Given the description of an element on the screen output the (x, y) to click on. 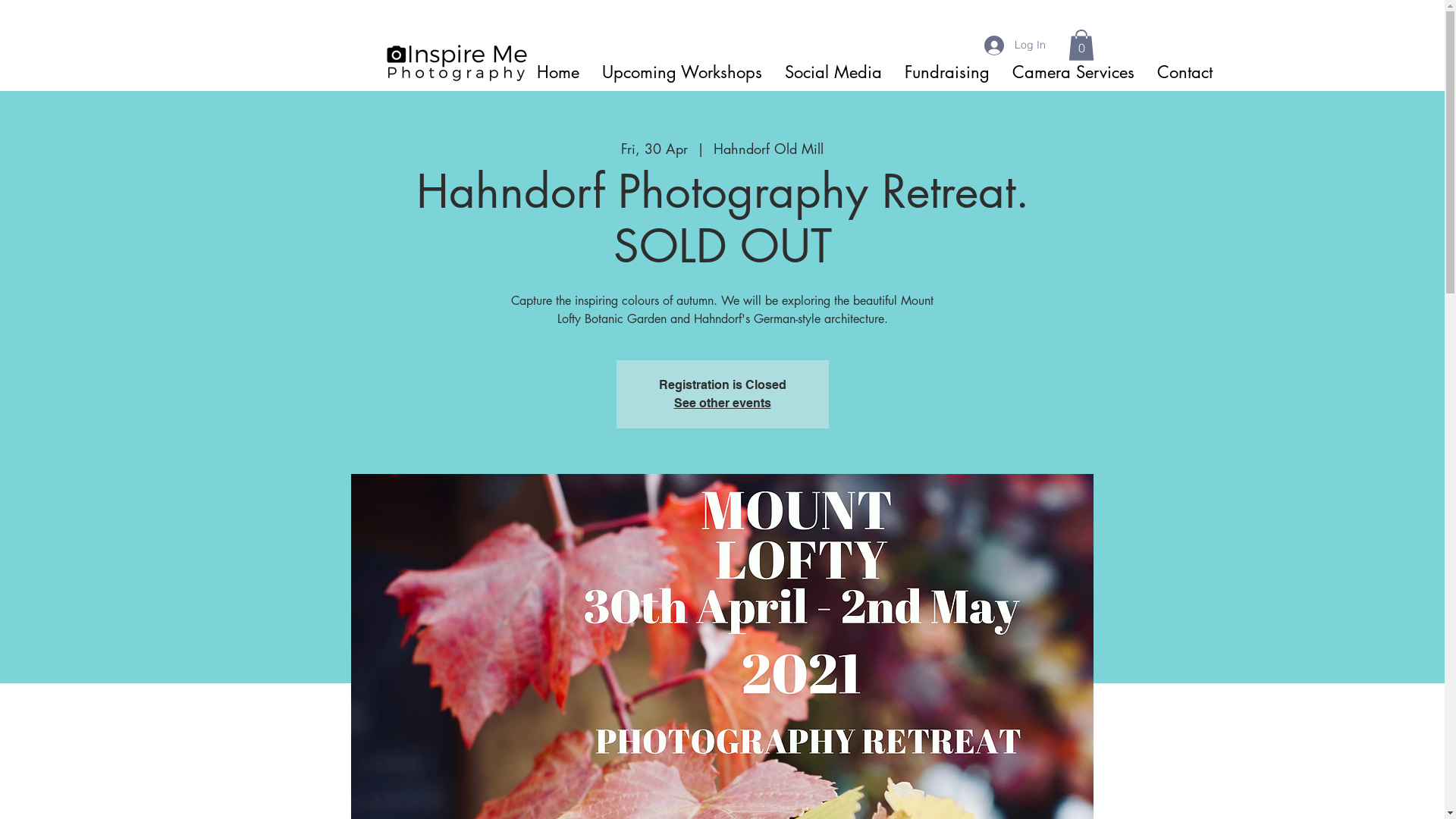
Inspire Me Photogrphy Element type: hover (457, 61)
See other events Element type: text (721, 402)
0 Element type: text (1080, 44)
Camera Services Element type: text (1073, 72)
Upcoming Workshops Element type: text (680, 72)
Home Element type: text (556, 72)
Contact Element type: text (1184, 72)
Log In Element type: text (1014, 45)
Social Media Element type: text (833, 72)
Fundraising Element type: text (947, 72)
